Given the description of an element on the screen output the (x, y) to click on. 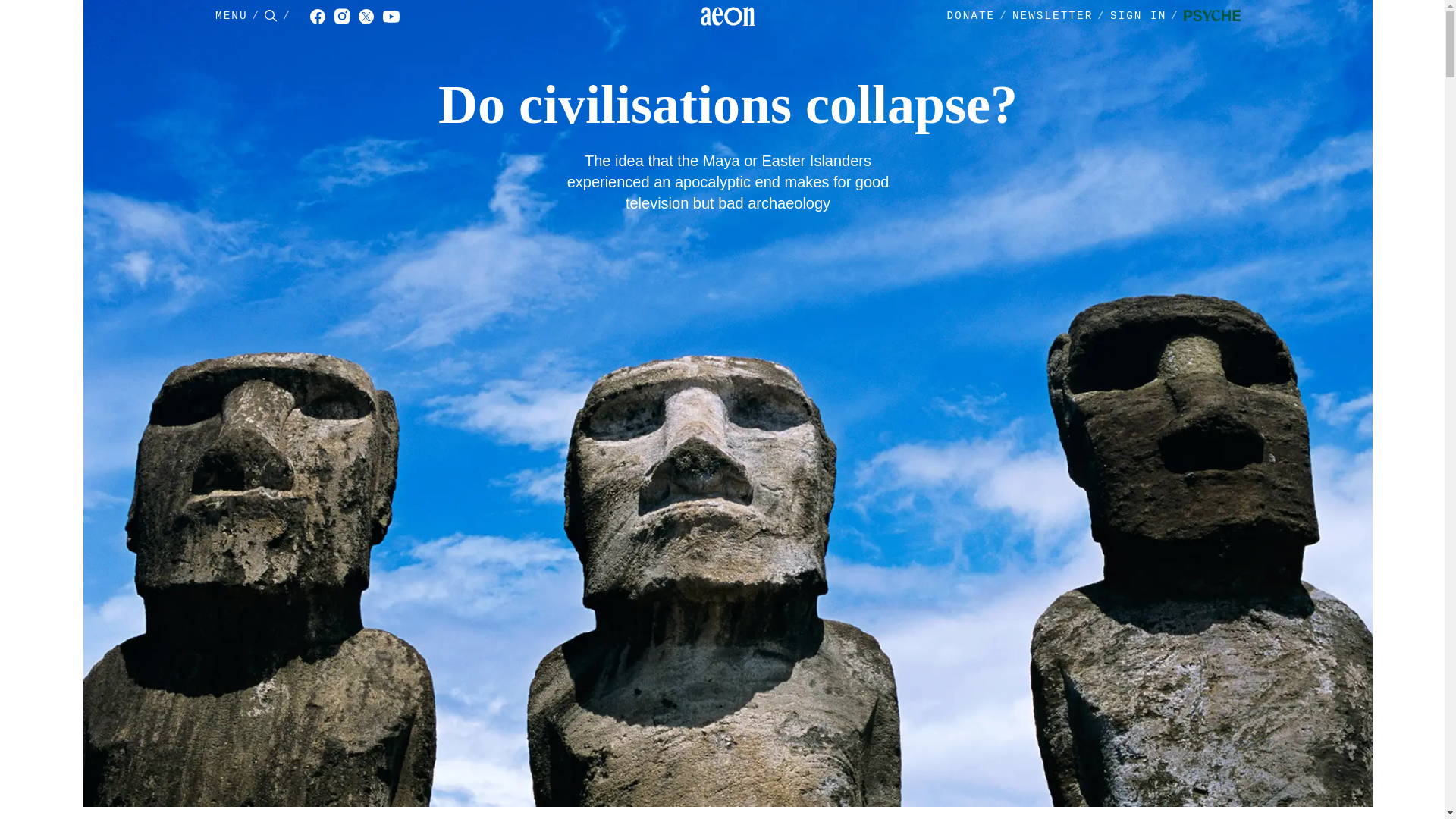
Psyche (1211, 17)
Sign in (1146, 16)
DONATE (970, 15)
